Given the description of an element on the screen output the (x, y) to click on. 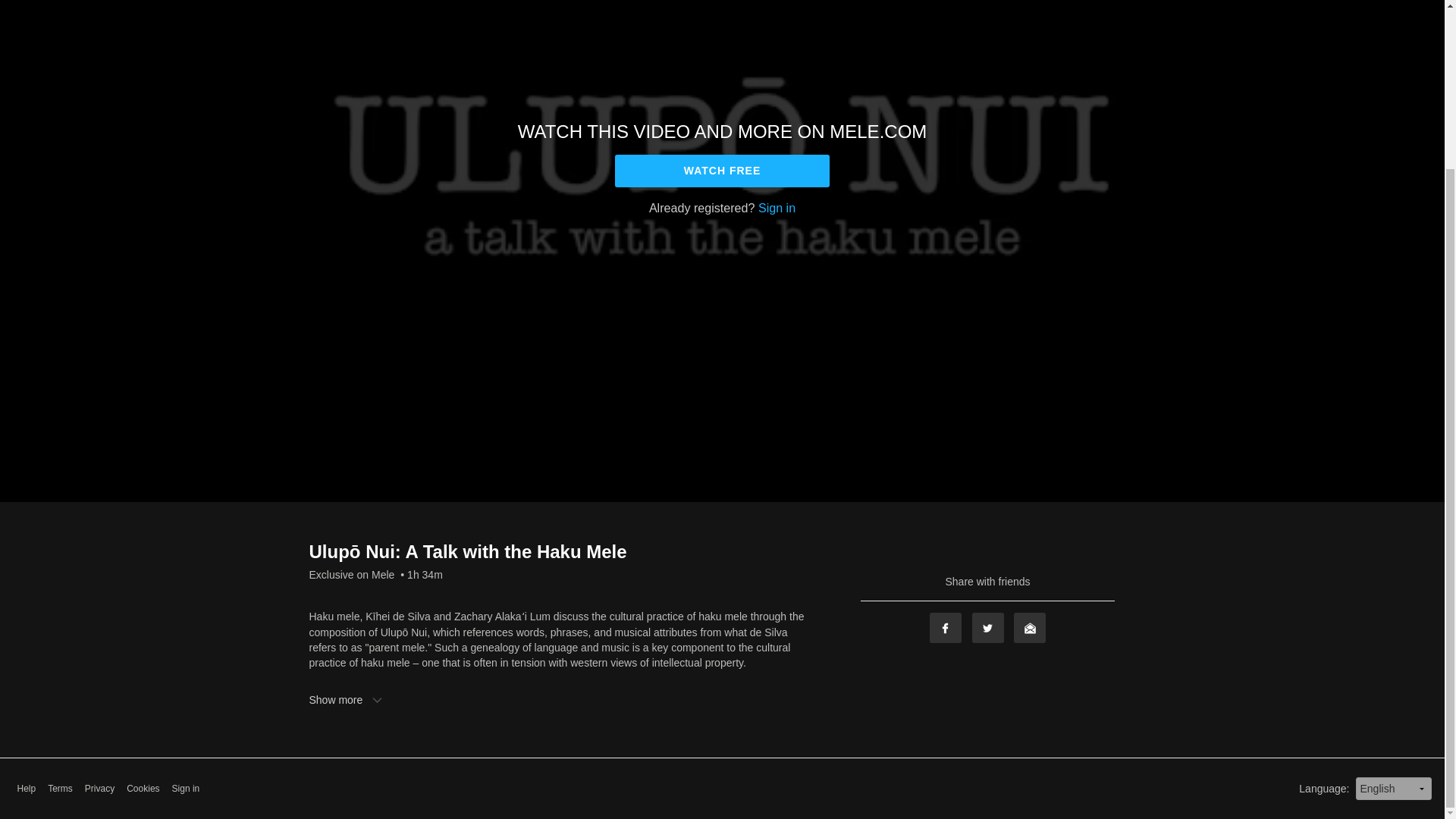
Sign in (185, 788)
Terms (60, 788)
Help (25, 788)
Facebook (945, 627)
Privacy (99, 788)
Sign in (776, 207)
Twitter (988, 627)
Cookies (142, 788)
Email (1029, 627)
Exclusive on Mele (351, 574)
WATCH FREE (721, 170)
